Given the description of an element on the screen output the (x, y) to click on. 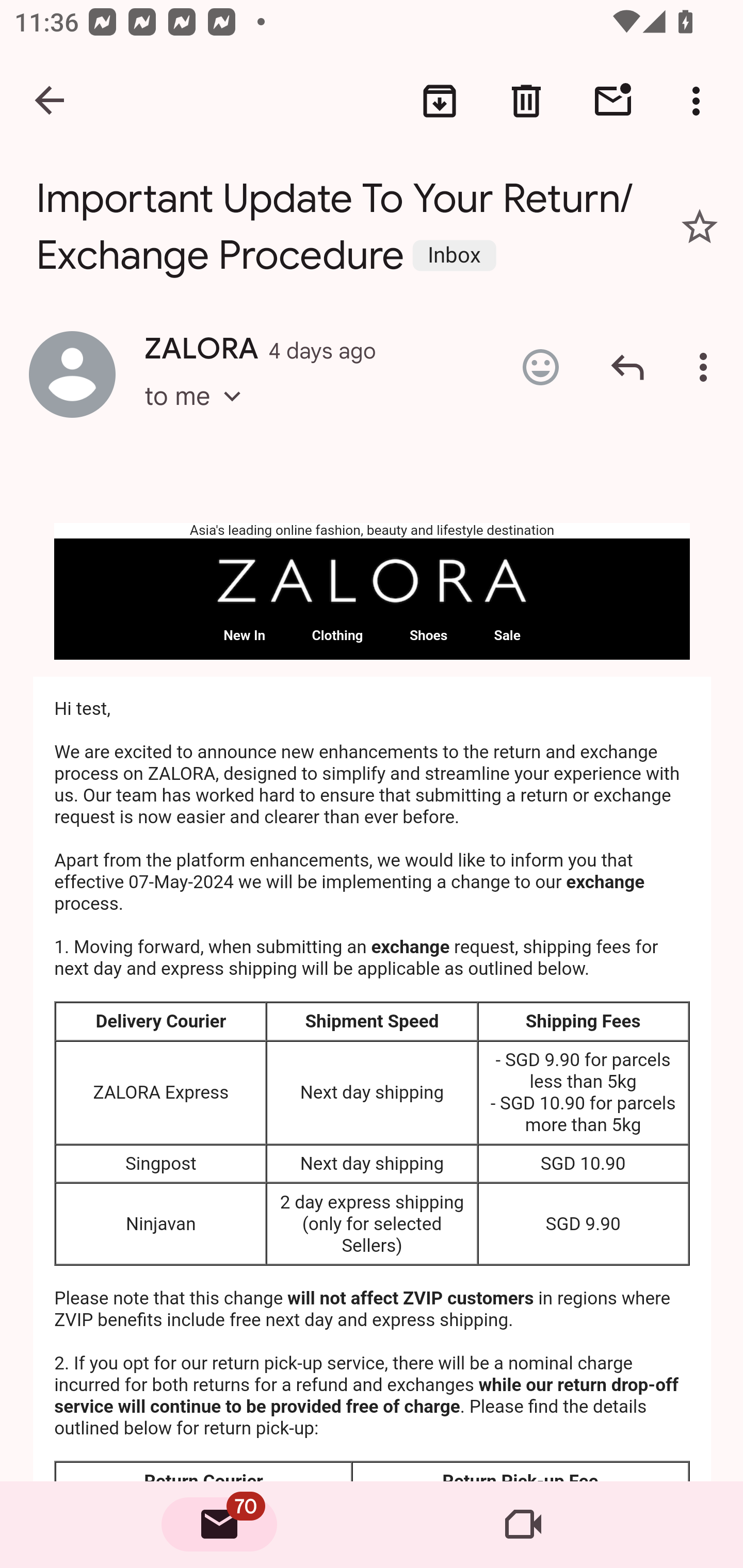
Navigate up (50, 101)
Archive (439, 101)
Delete (525, 101)
Mark unread (612, 101)
More options (699, 101)
Add star (699, 226)
Add emoji reaction (540, 367)
Reply (626, 367)
More options (706, 367)
Show contact information for ZALORA (71, 373)
to me (199, 414)
Meet (523, 1524)
